Given the description of an element on the screen output the (x, y) to click on. 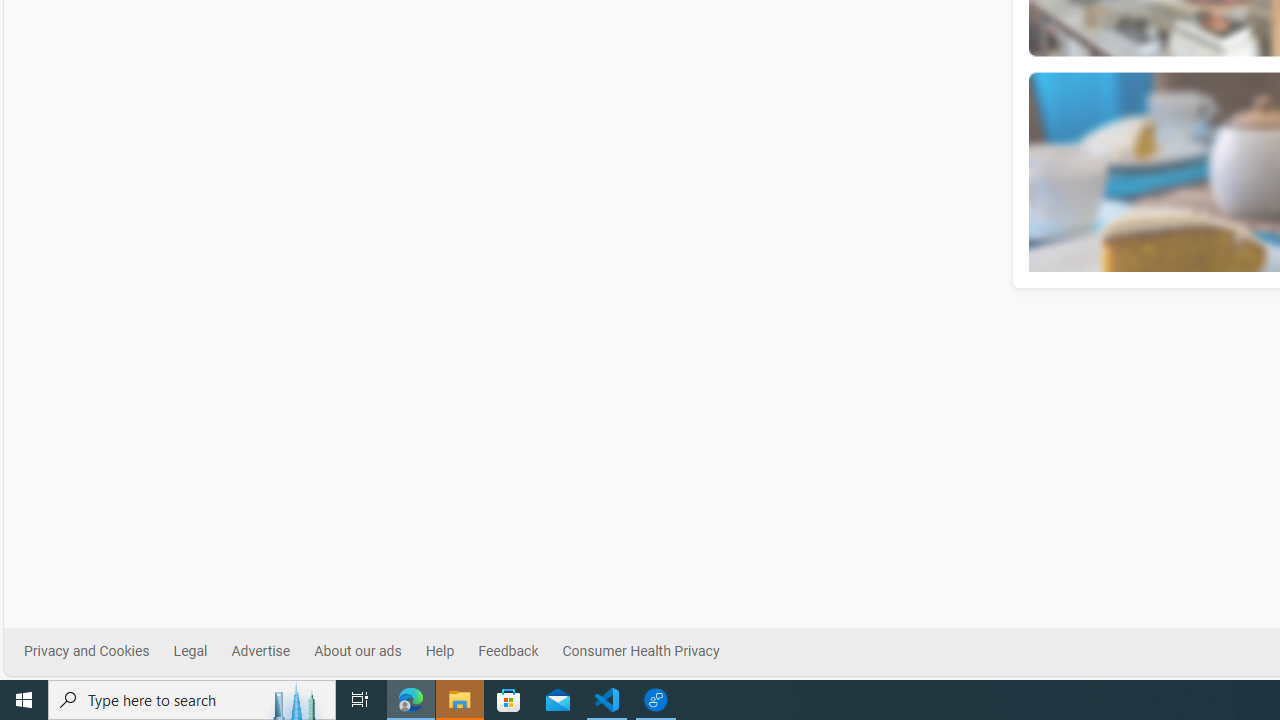
Help (439, 651)
Advertise (272, 651)
Help (451, 651)
About our ads (369, 651)
Legal (201, 651)
Advertise (260, 651)
Privacy and Cookies (86, 651)
Privacy and Cookies (99, 651)
Consumer Health Privacy (640, 651)
Legal (189, 651)
About our ads (357, 651)
Consumer Health Privacy (652, 651)
